Given the description of an element on the screen output the (x, y) to click on. 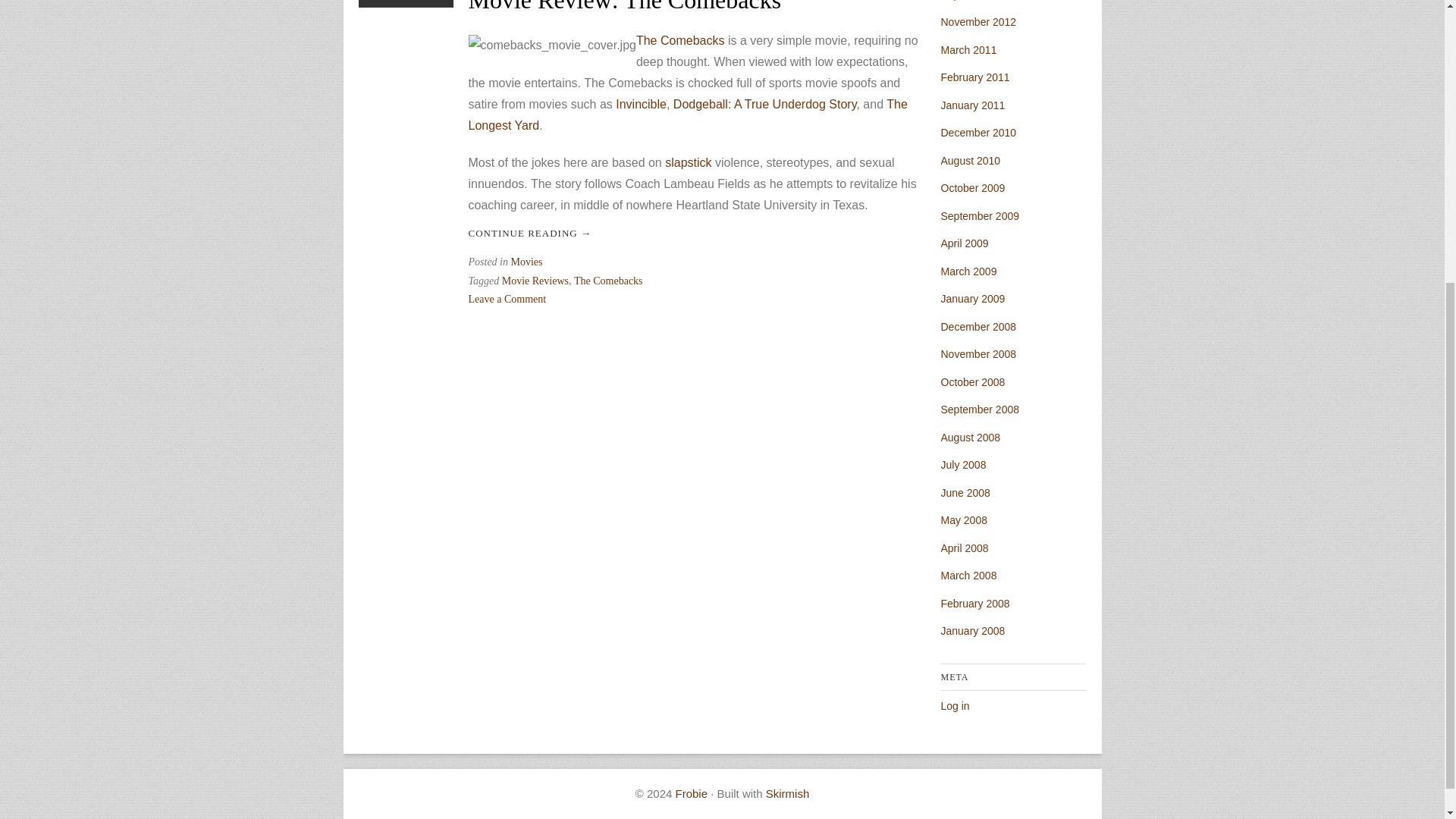
March 2008 (967, 575)
April 2009 (964, 243)
September 2008 (979, 409)
April 2008 (964, 548)
June 2008 (965, 492)
Movie Reviews (535, 280)
January 2009 (972, 298)
March 2009 (967, 271)
Invincible (640, 103)
